Given the description of an element on the screen output the (x, y) to click on. 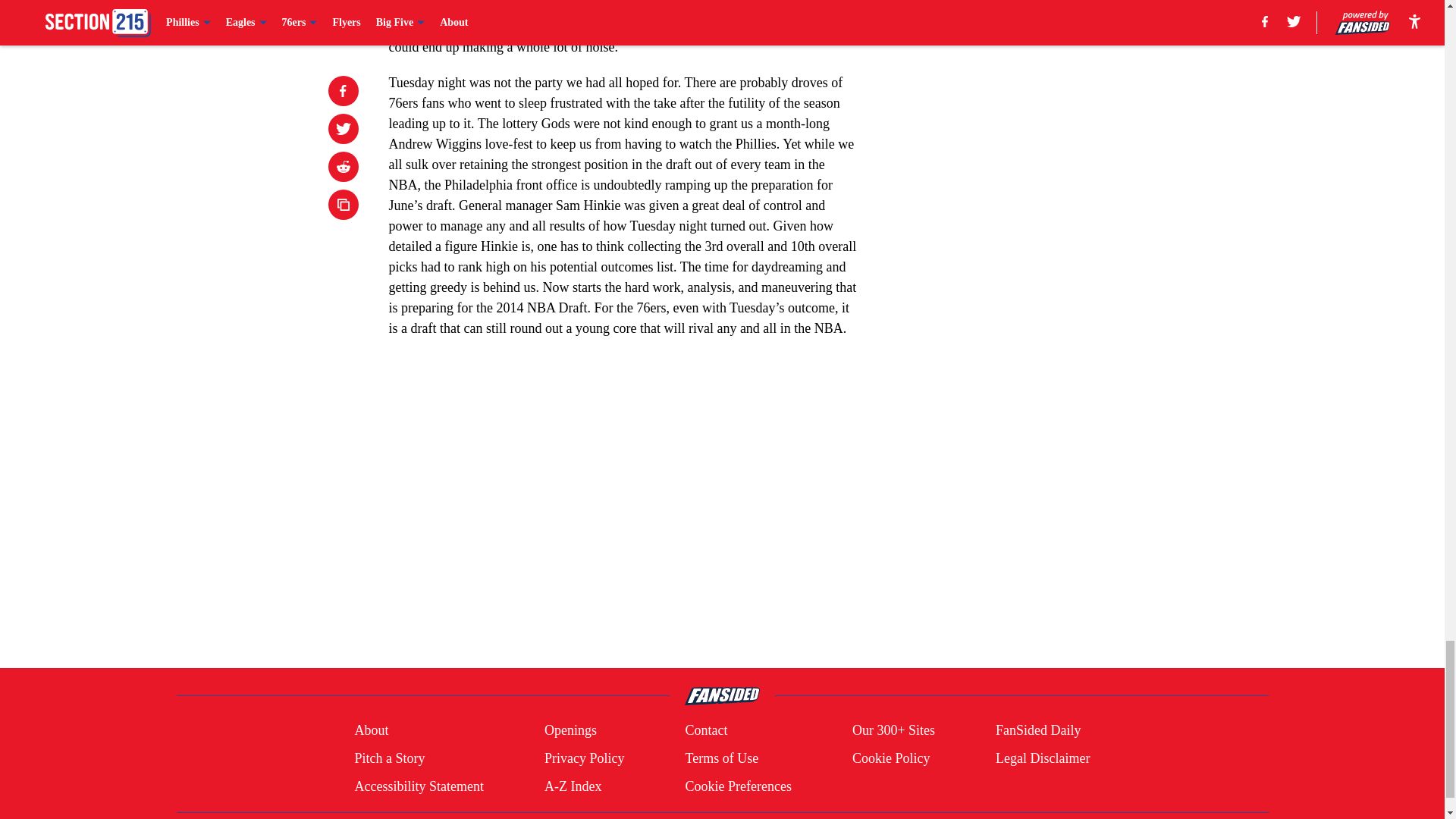
Contact (705, 730)
Openings (570, 730)
Privacy Policy (584, 758)
Cookie Policy (890, 758)
FanSided Daily (1038, 730)
Terms of Use (721, 758)
About (370, 730)
Pitch a Story (389, 758)
